Given the description of an element on the screen output the (x, y) to click on. 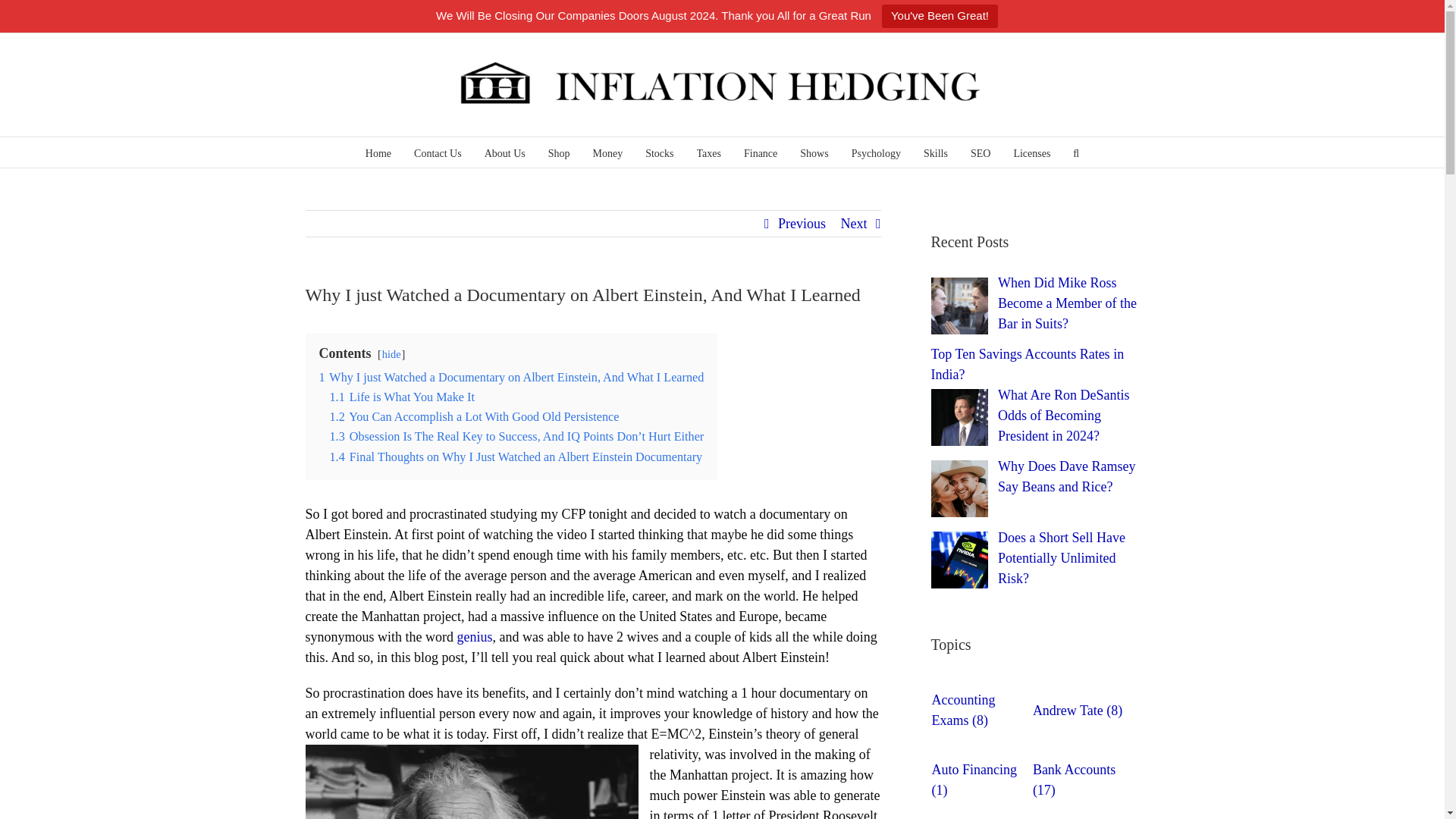
Stocks (658, 152)
Money (607, 152)
Contact Us (437, 152)
About Us (504, 152)
You've Been Great! (939, 15)
